Given the description of an element on the screen output the (x, y) to click on. 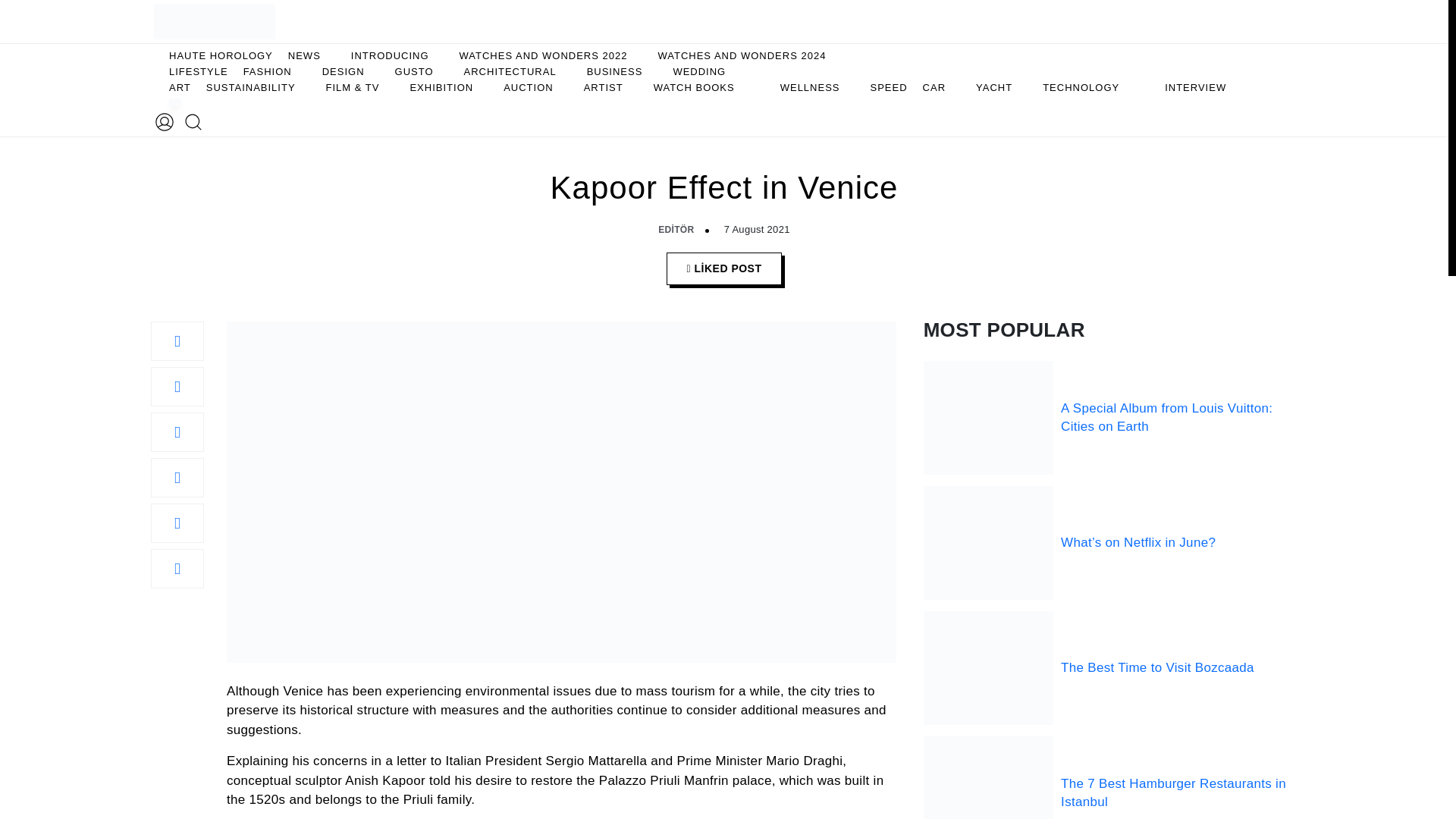
Kapoor Effect in Venice (177, 567)
Kapoor Effect in Venice (177, 385)
Kapoor Effect in Venice (177, 476)
Kapoor Effect in Venice (177, 431)
Kapoor Effect in Venice (177, 522)
Kapoor Effect in Venice (177, 340)
